Given the description of an element on the screen output the (x, y) to click on. 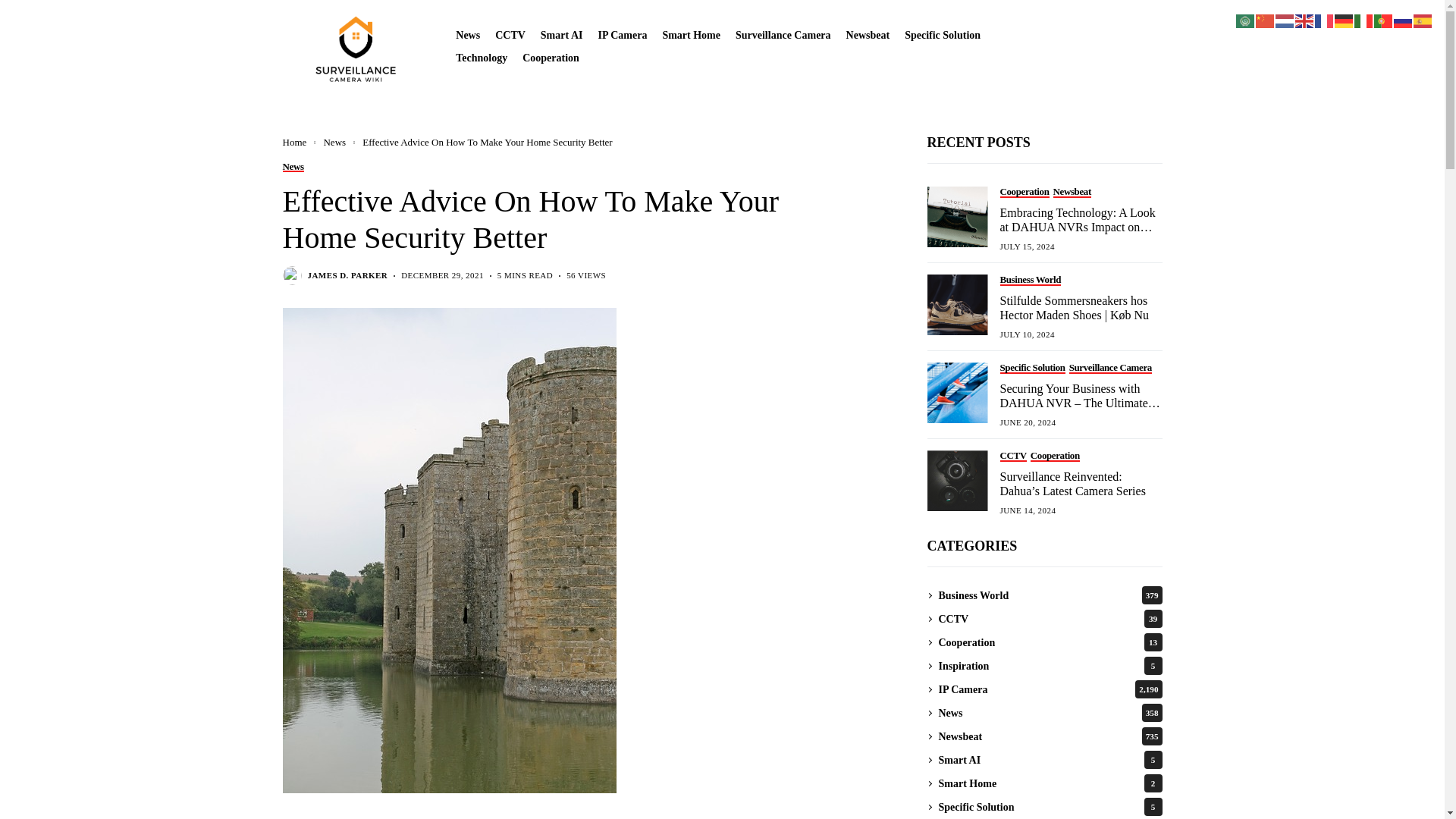
Smart Home (691, 34)
Posts by James D. Parker (347, 275)
Smart AI (561, 34)
Newsbeat (867, 34)
IP Camera (621, 34)
Cooperation (550, 57)
Specific Solution (941, 34)
News (467, 34)
CCTV (510, 34)
Surveillance Camera (783, 34)
Technology (480, 57)
